Given the description of an element on the screen output the (x, y) to click on. 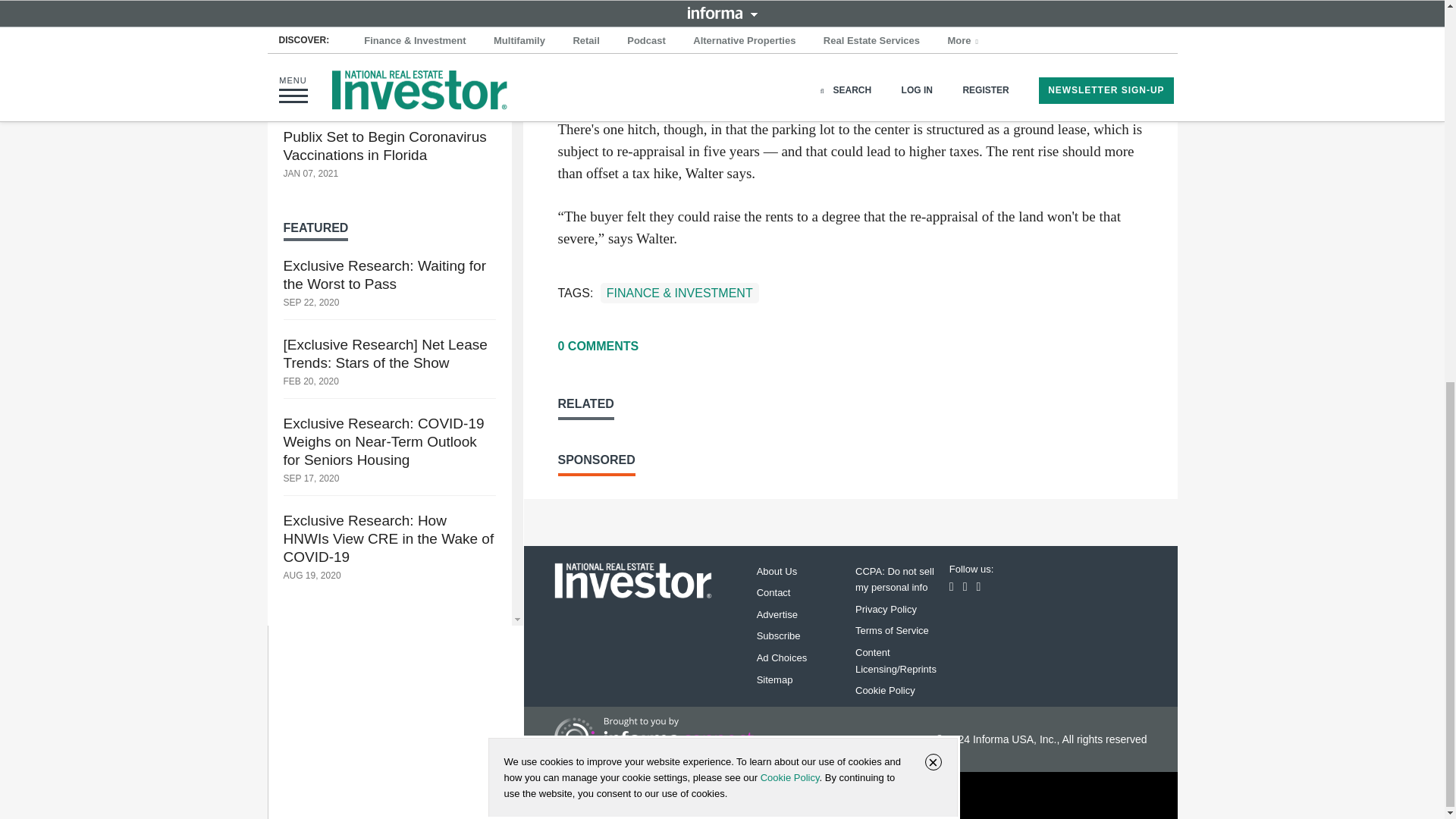
Cookie Policy (789, 61)
